Given the description of an element on the screen output the (x, y) to click on. 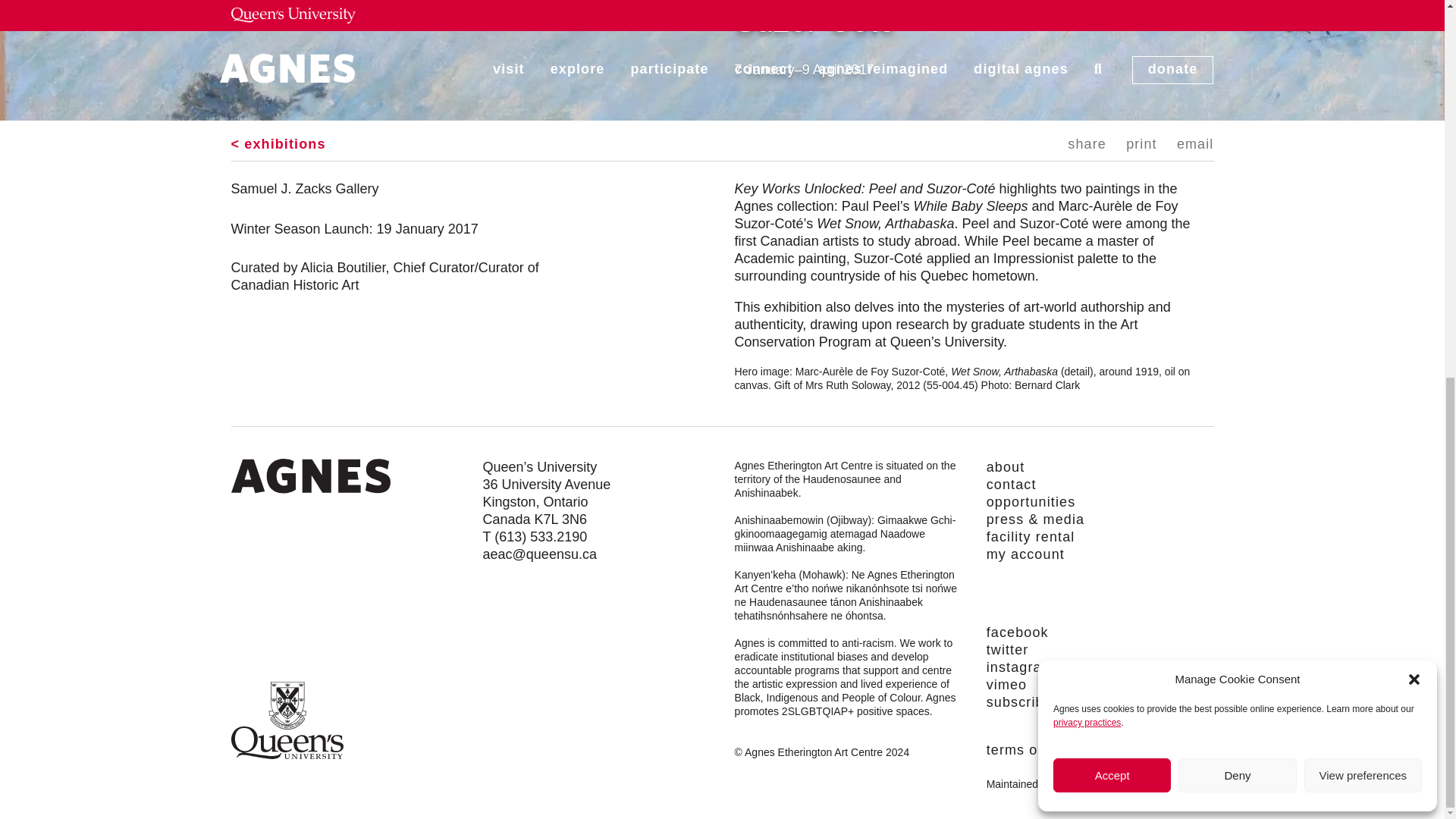
Deny (1236, 76)
Accept (1111, 76)
View preferences (1363, 76)
privacy practices (1086, 23)
